Given the description of an element on the screen output the (x, y) to click on. 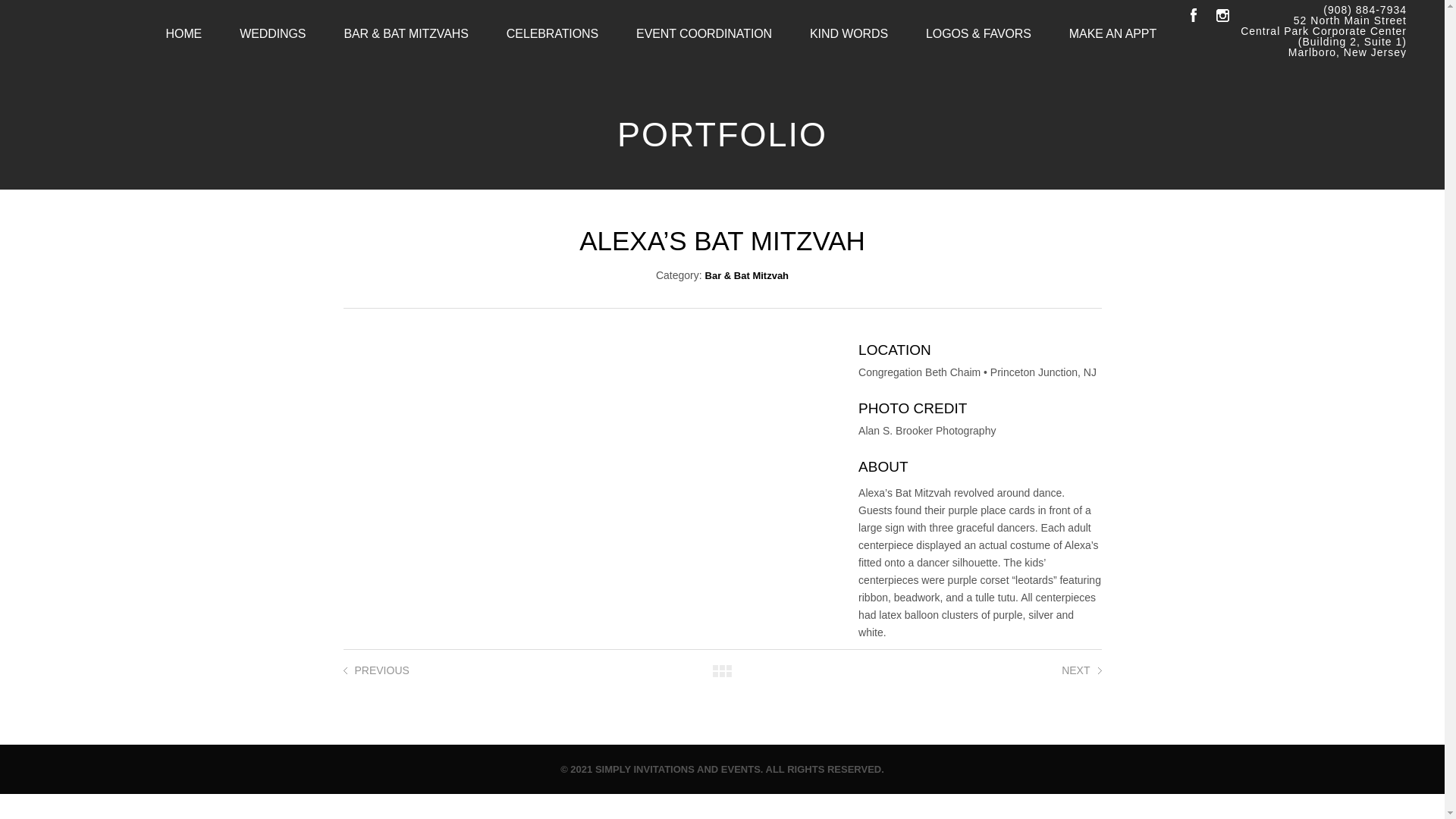
MAKE AN APPT (1111, 33)
facebook (1193, 14)
PREVIOUS (382, 670)
KIND WORDS (848, 33)
EVENT COORDINATION (703, 33)
NEXT (1075, 670)
instagram (1222, 14)
WEDDINGS (272, 33)
HOME (184, 33)
CELEBRATIONS (552, 33)
